Given the description of an element on the screen output the (x, y) to click on. 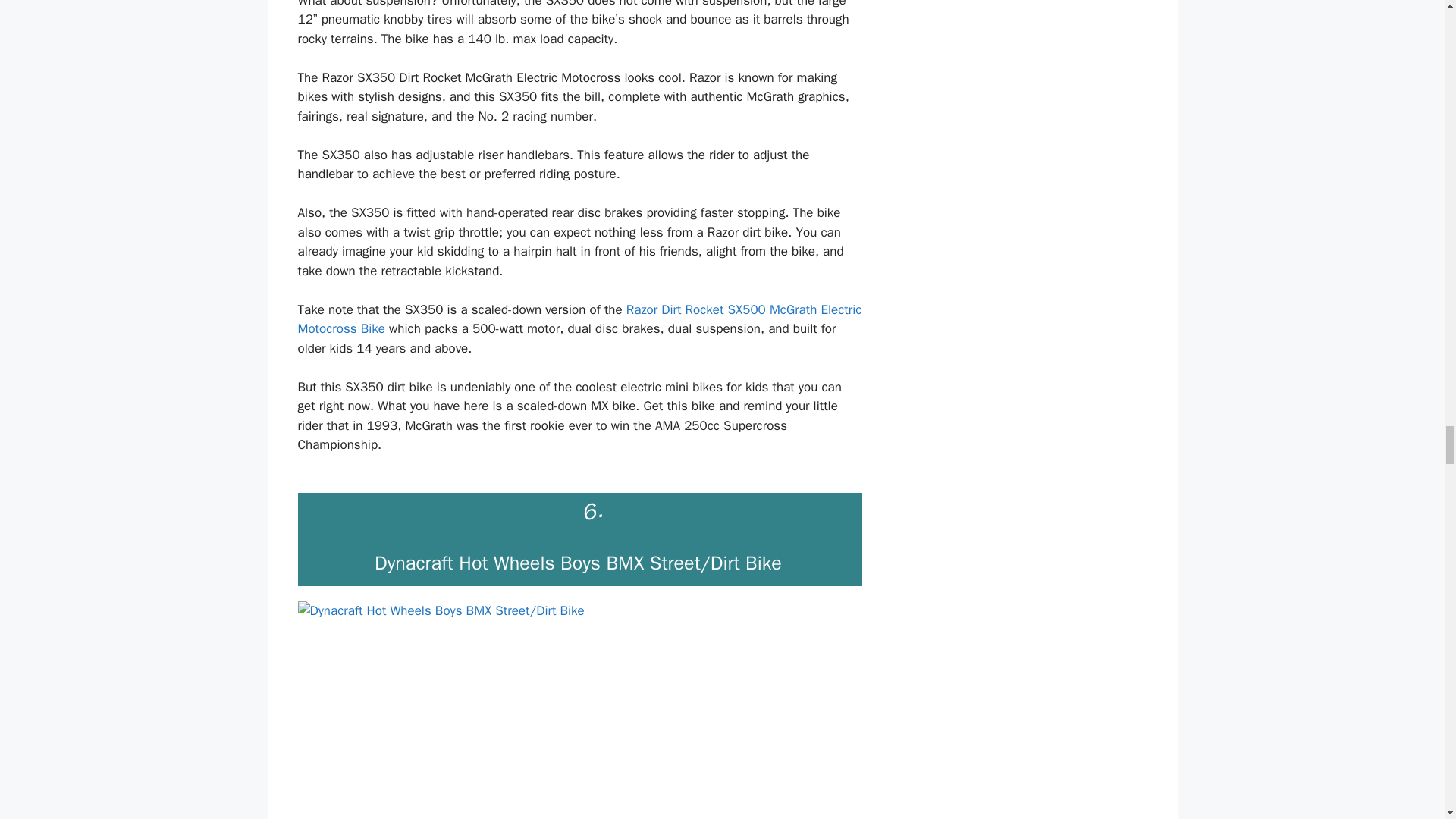
Razor Dirt Rocket SX500 McGrath Electric Motocross Bike (579, 319)
